Given the description of an element on the screen output the (x, y) to click on. 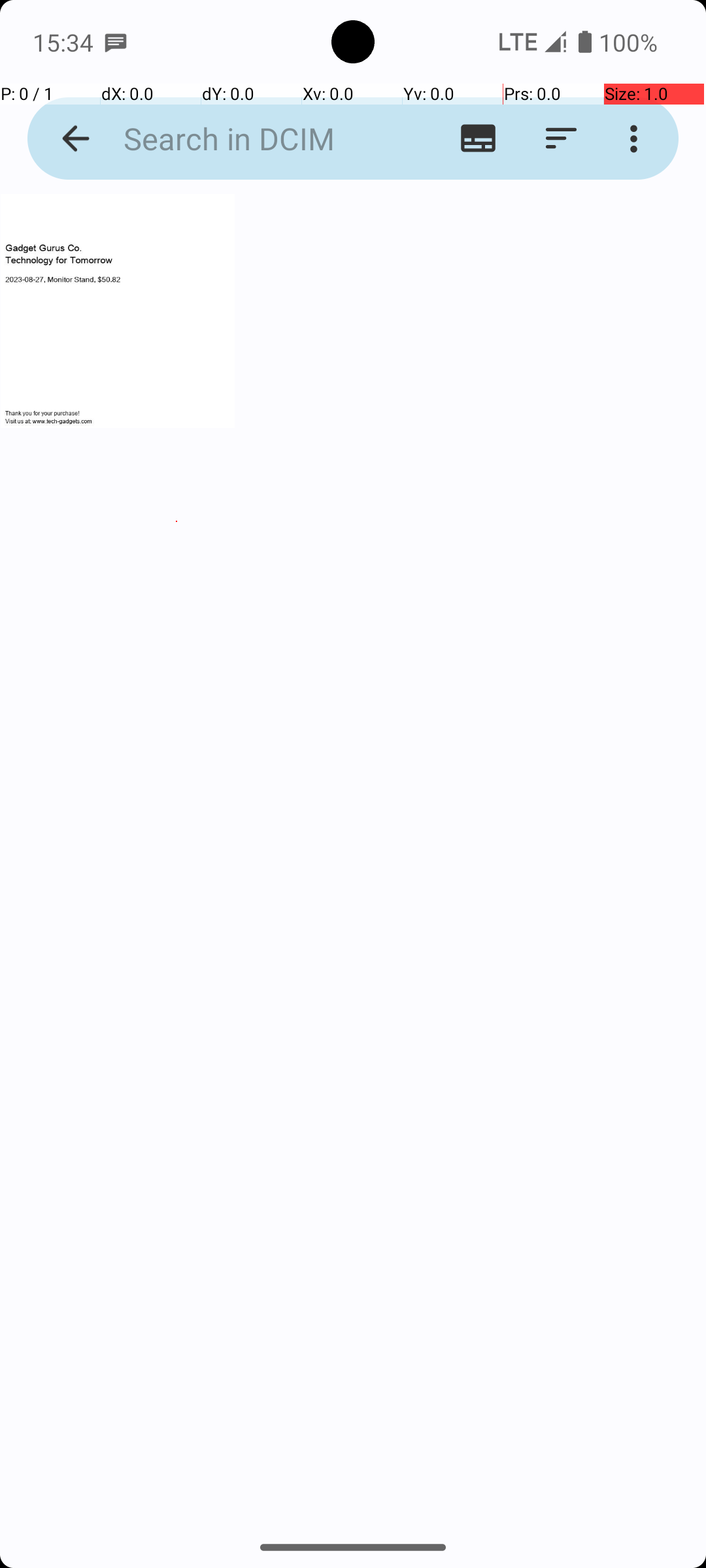
Search in DCIM Element type: android.widget.EditText (252, 138)
